Given the description of an element on the screen output the (x, y) to click on. 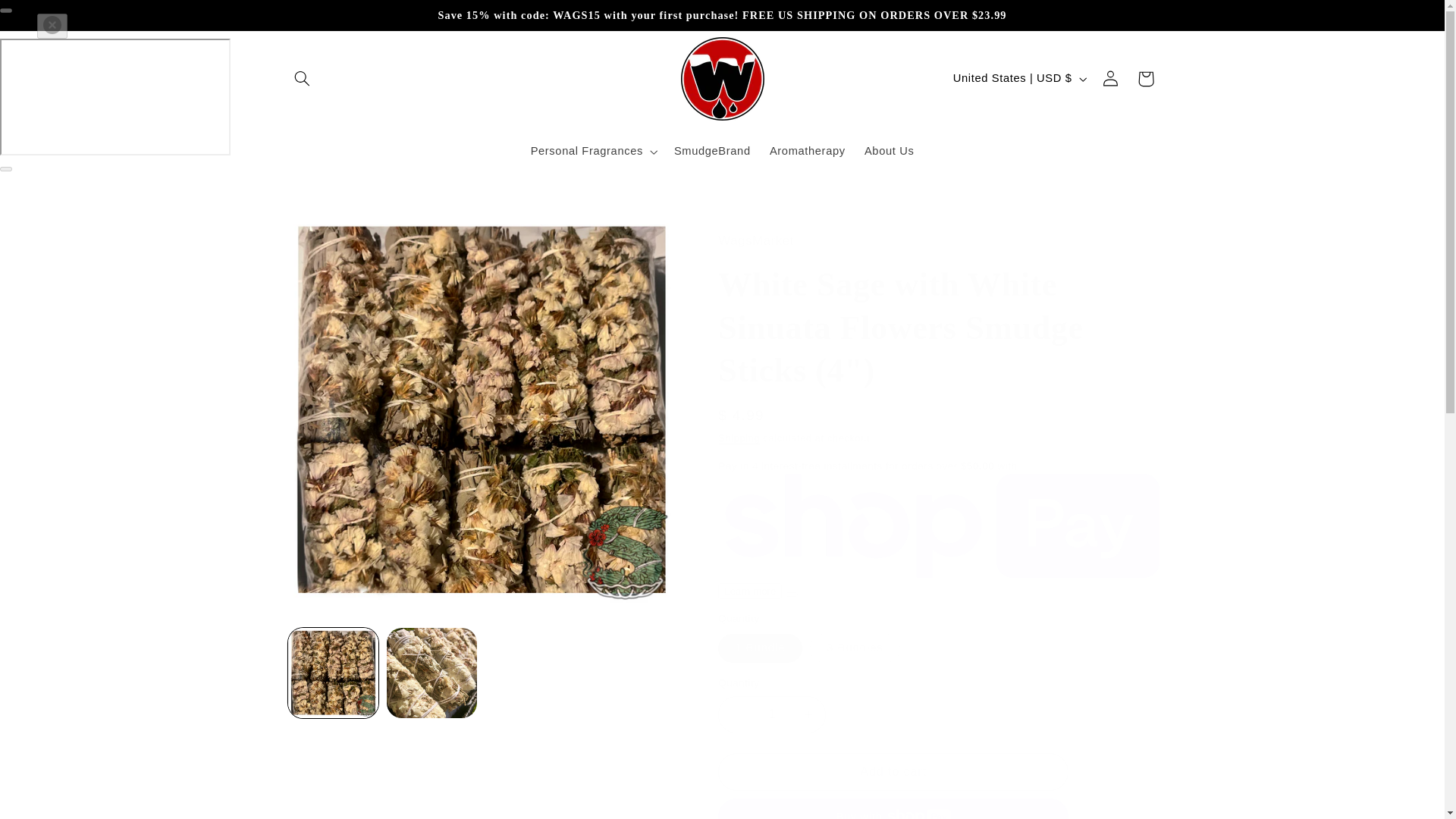
Cart (1145, 78)
Skip to product information (331, 231)
Aromatherapy (807, 151)
SmudgeBrand (711, 151)
1 (771, 714)
Skip to content (48, 18)
About Us (888, 151)
Log in (1110, 78)
